Given the description of an element on the screen output the (x, y) to click on. 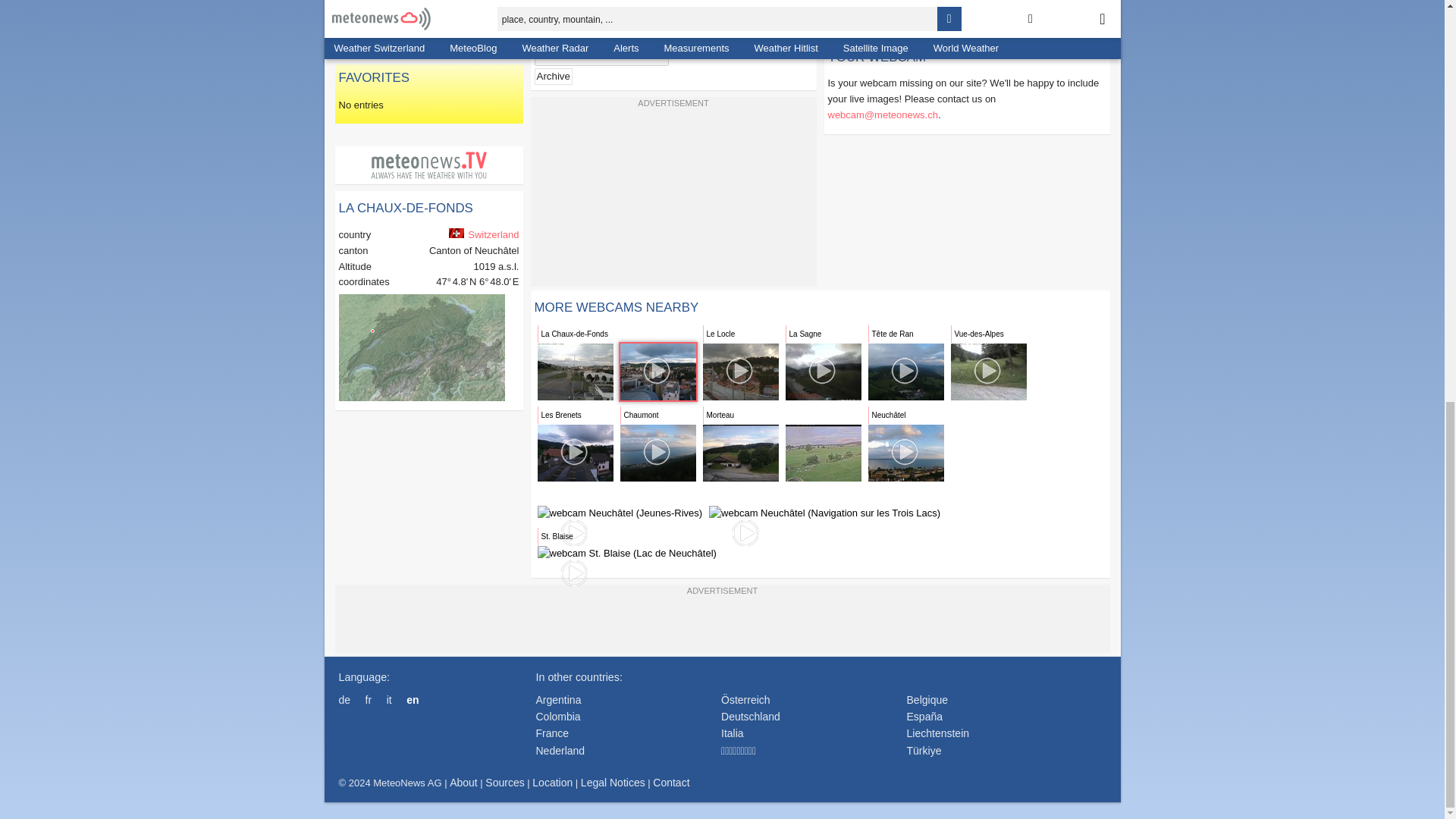
Archive (553, 76)
